Given the description of an element on the screen output the (x, y) to click on. 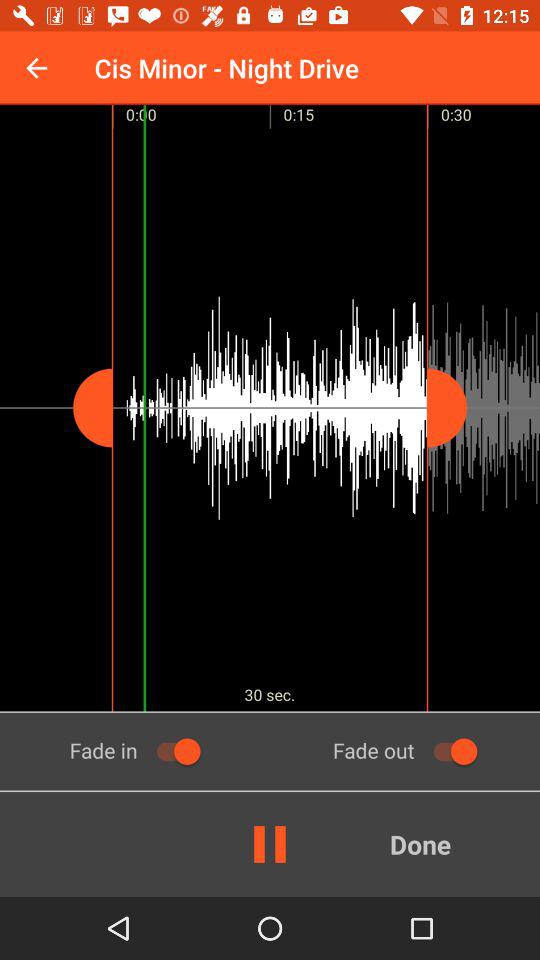
tap the item next to done icon (269, 843)
